Given the description of an element on the screen output the (x, y) to click on. 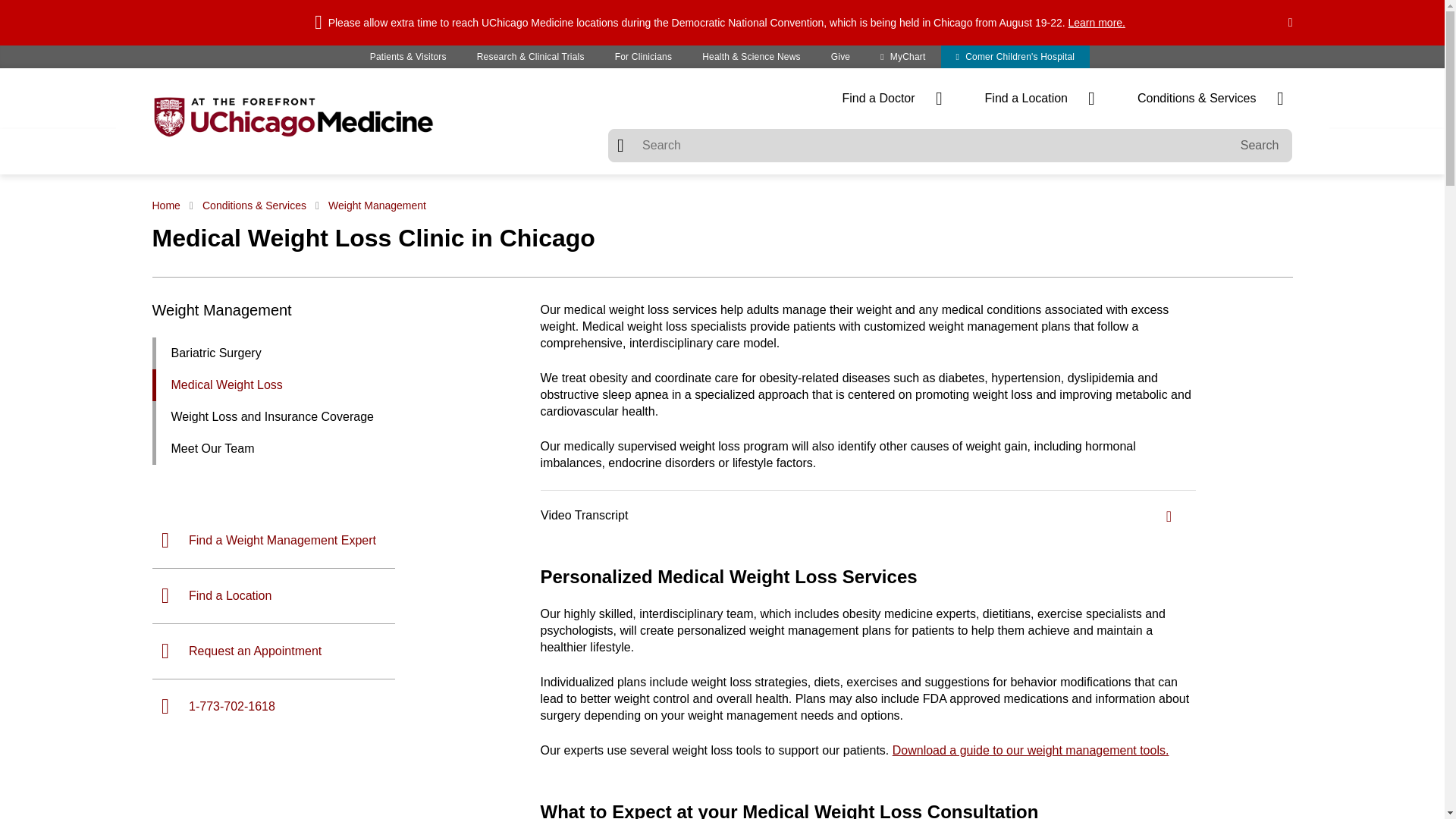
Learn more. (1096, 22)
Search (1259, 145)
Home (167, 205)
Video Transcript (867, 515)
Give (839, 56)
For Clinicians (643, 56)
Find a Location (1039, 98)
Weight Loss and Insurance Coverage (335, 417)
Download a guide to our weight management tools. (1030, 749)
